Given the description of an element on the screen output the (x, y) to click on. 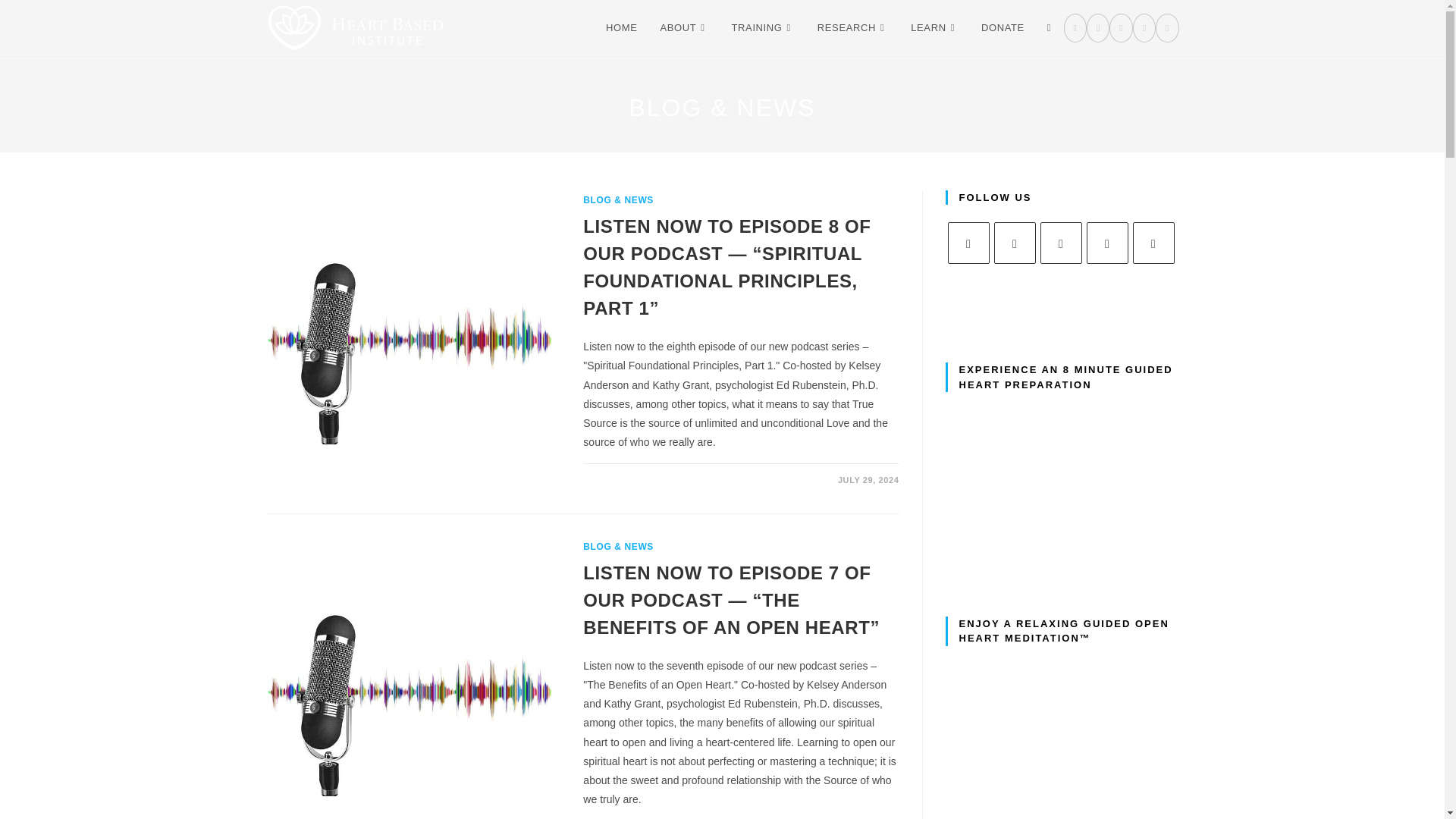
ABOUT (683, 28)
DONATE (1002, 28)
HOME (620, 28)
RESEARCH (852, 28)
LEARN (934, 28)
TRAINING (763, 28)
